Given the description of an element on the screen output the (x, y) to click on. 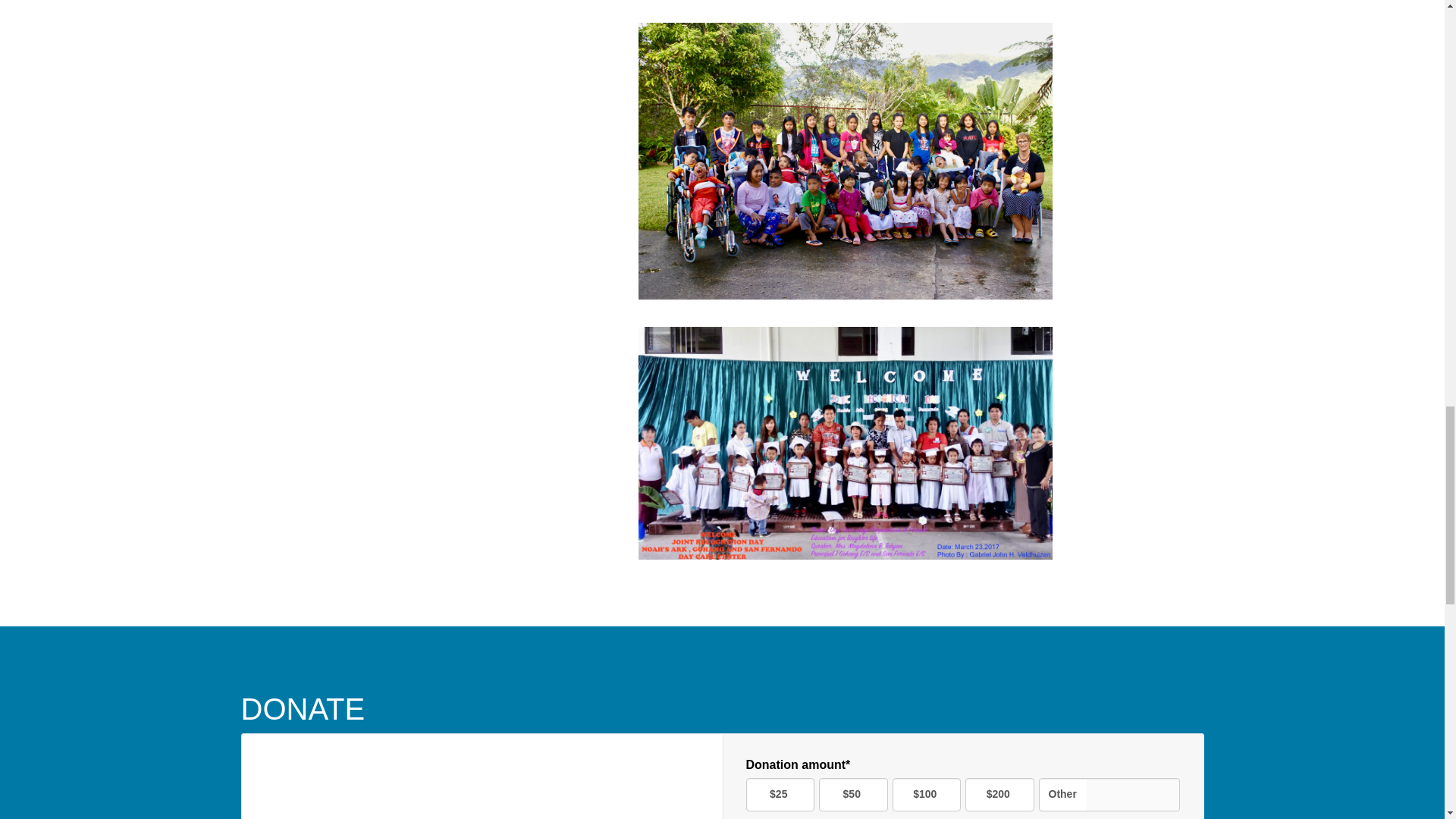
Daycare Graduation (845, 442)
